Given the description of an element on the screen output the (x, y) to click on. 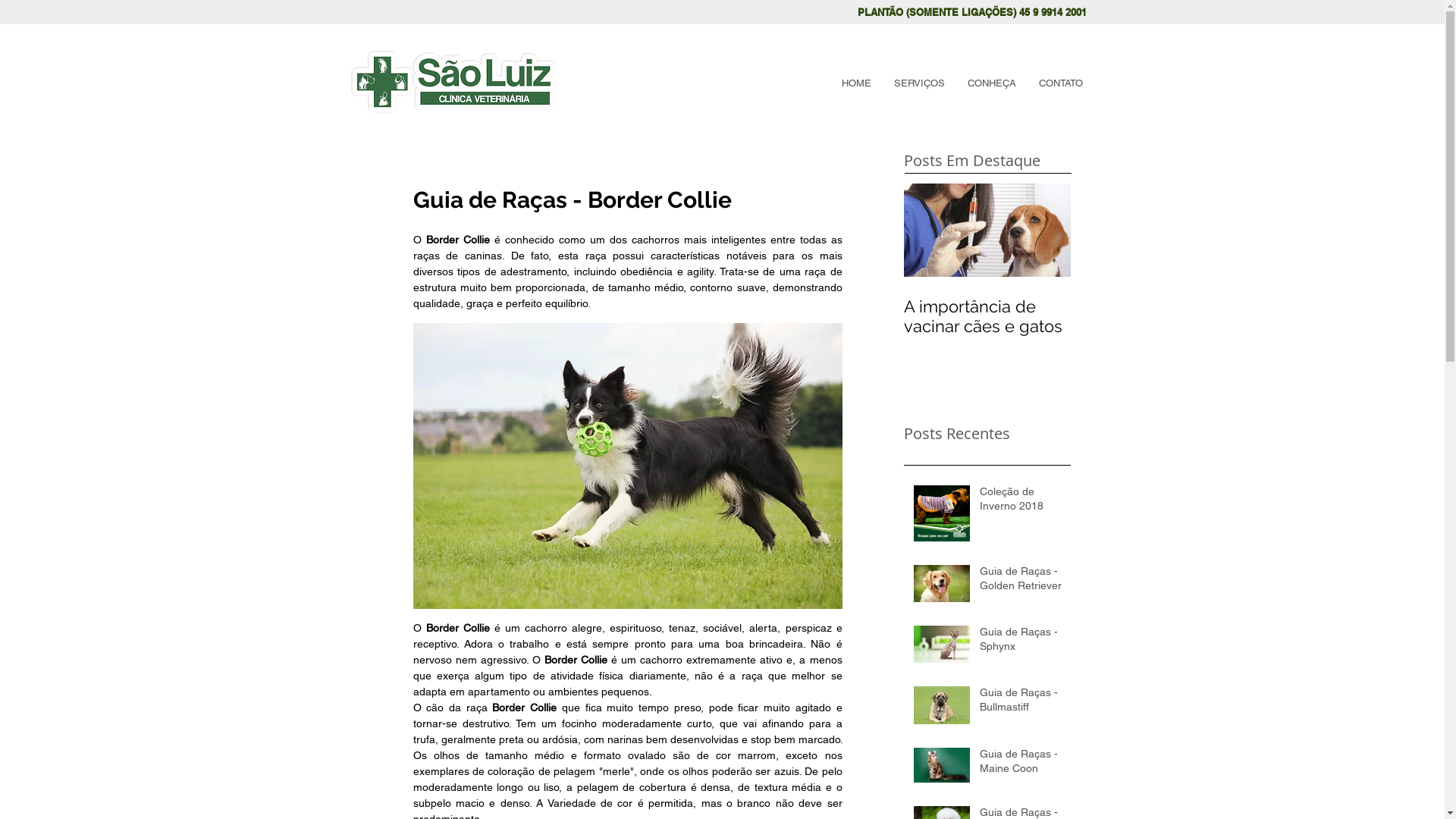
CONTATO Element type: text (1059, 82)
HOME Element type: text (855, 82)
